Given the description of an element on the screen output the (x, y) to click on. 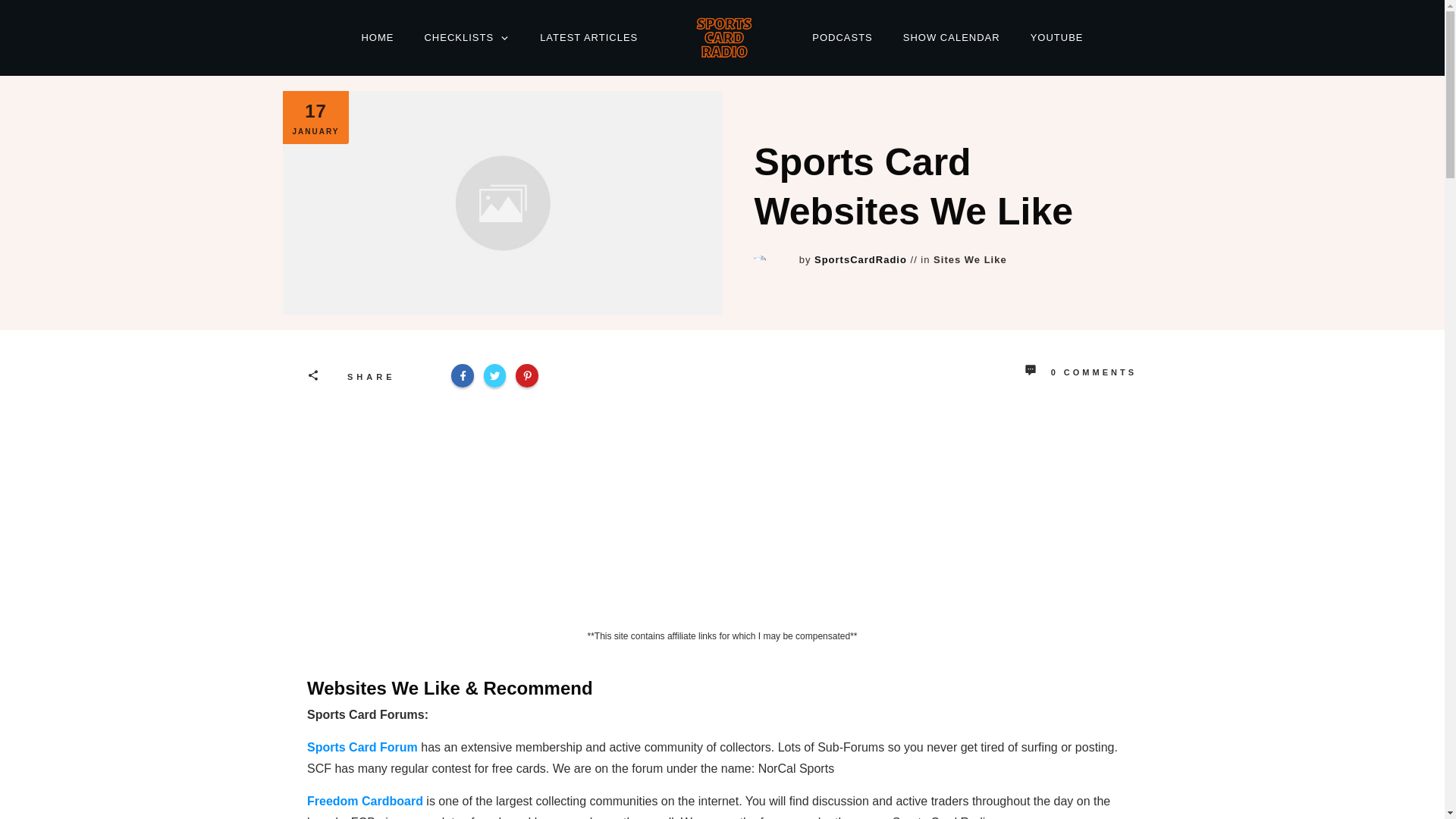
PODCASTS (842, 37)
SportsCardRadio (860, 259)
HOME (377, 37)
Sports Card Forum (362, 747)
Sites We Like (970, 259)
Freedom Cardboard (365, 800)
CHECKLISTS (466, 37)
Sites We Like (970, 259)
LATEST ARTICLES (588, 37)
YOUTUBE (1056, 37)
SHOW CALENDAR (951, 37)
